Given the description of an element on the screen output the (x, y) to click on. 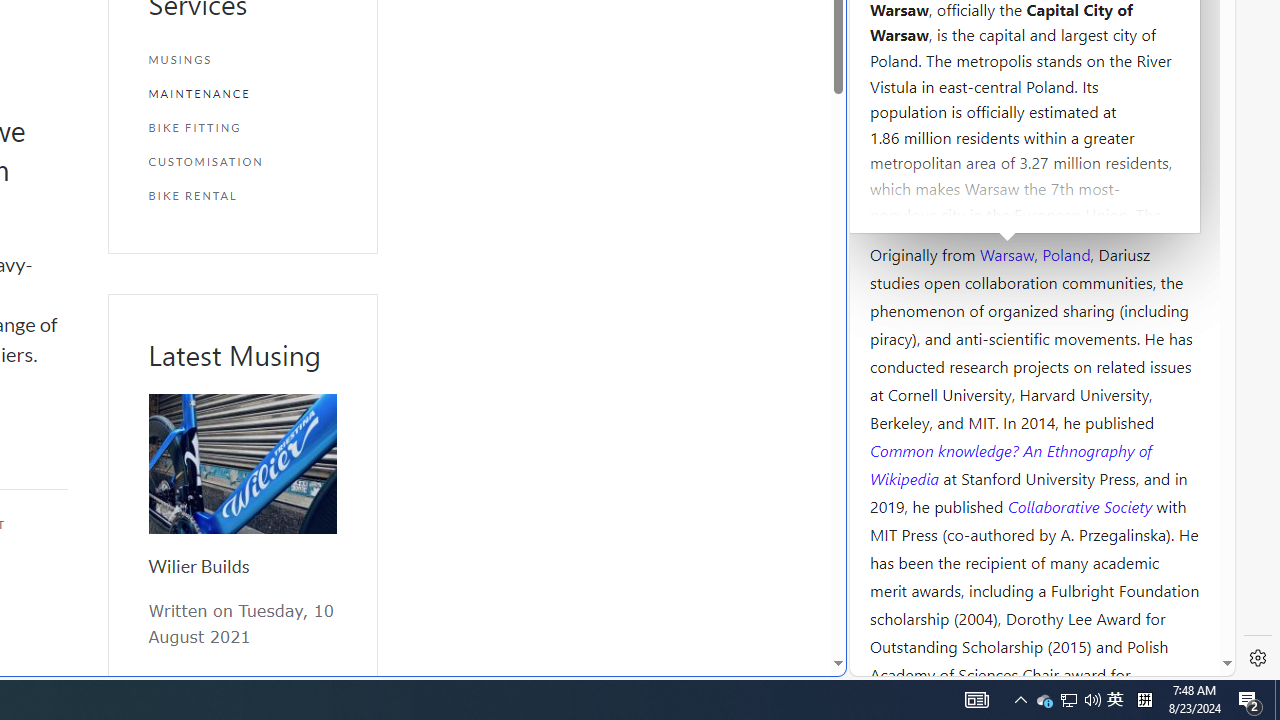
MUSINGS (242, 60)
MAINTENANCE (242, 93)
Poland (1065, 253)
MAINTENANCE (242, 93)
Global web icon (888, 663)
Kozminski University (1034, 136)
Collaborative Society  (1082, 505)
CUSTOMISATION (242, 161)
Common knowledge? An Ethnography of Wikipedia (1010, 463)
google_privacy_policy_zh-CN.pdf (687, 482)
